Given the description of an element on the screen output the (x, y) to click on. 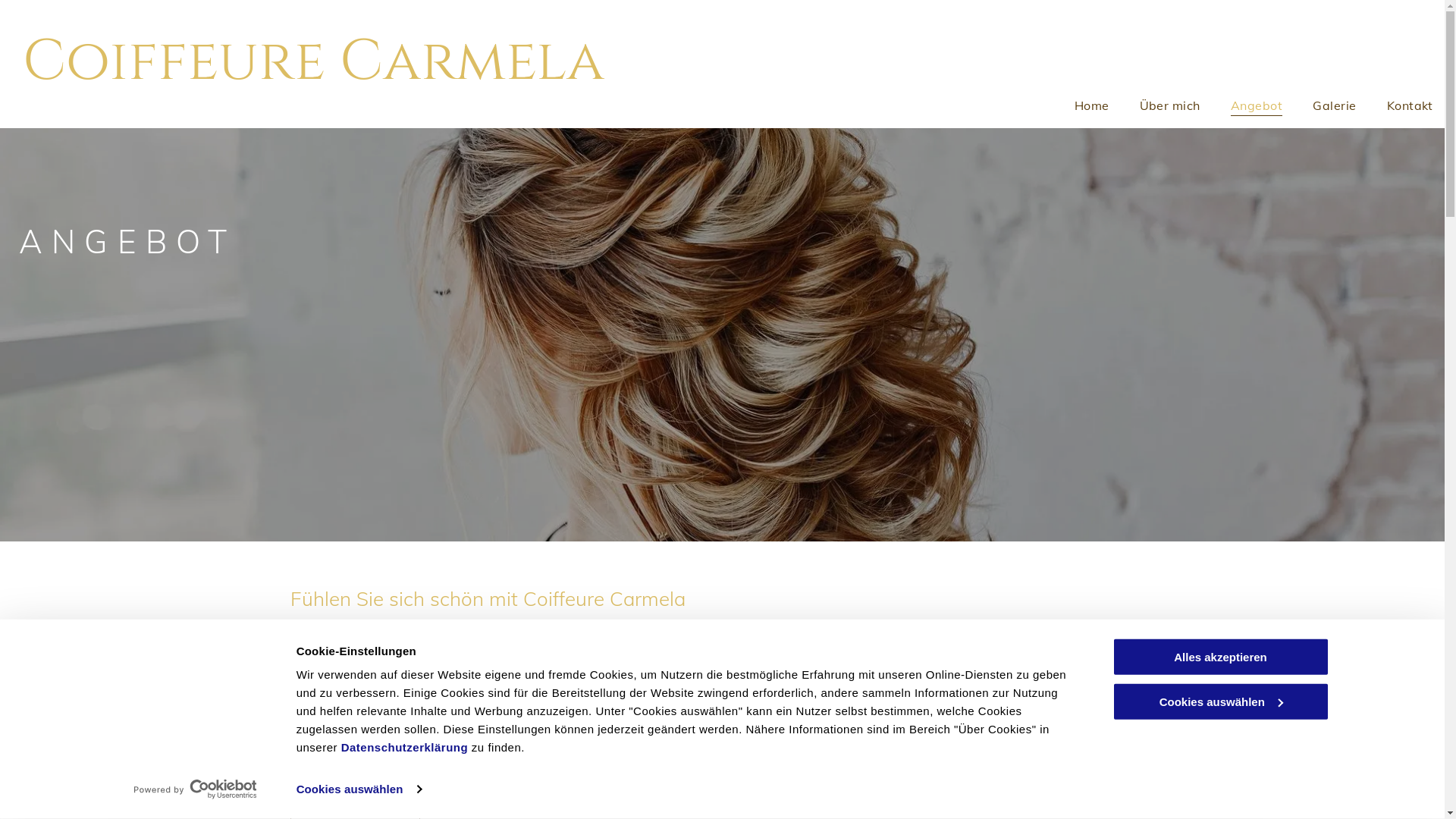
Angebot Element type: text (1241, 105)
Kontakt Element type: text (1394, 105)
Alles akzeptieren Element type: text (1219, 656)
Galerie Element type: text (1318, 105)
Coiffeure Carmela Element type: text (313, 61)
Home Element type: text (1076, 105)
